Given the description of an element on the screen output the (x, y) to click on. 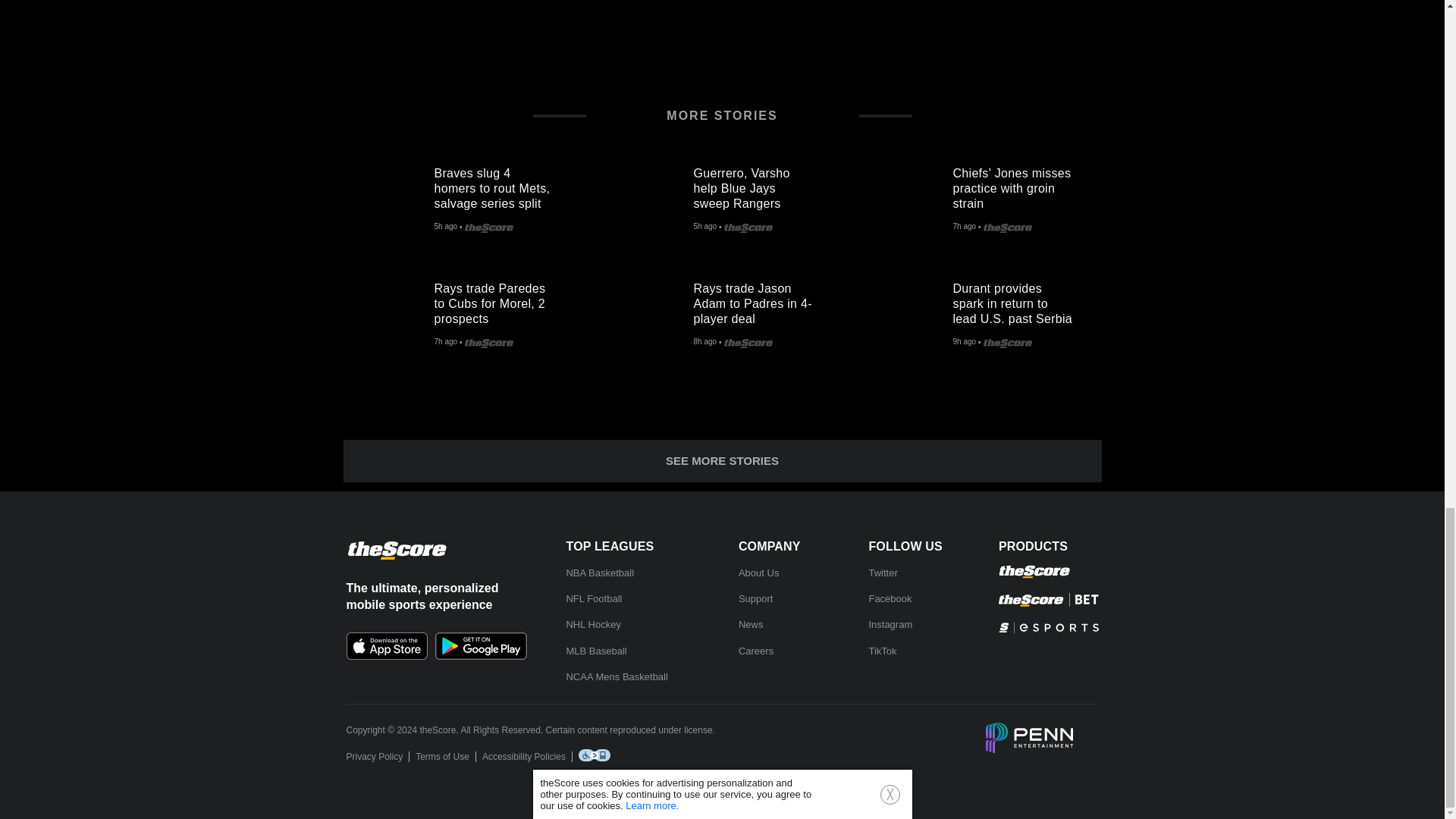
Chiefs' Jones misses practice with groin strain (906, 200)
Rays trade Paredes to Cubs for Morel, 2 prospects (500, 299)
NHL Hockey (593, 624)
Durant provides spark in return to lead U.S. past Serbia (1018, 299)
2024-07-28T20:56:03.000Z (704, 226)
Rays trade Jason Adam to Padres in 4-player deal (647, 315)
2024-07-28T19:17:01.000Z (963, 226)
2024-07-28T18:47:39.000Z (445, 342)
NBA Basketball (599, 572)
Durant provides spark in return to lead U.S. past Serbia (906, 315)
SEE MORE STORIES (721, 460)
Braves slug 4 homers to rout Mets, salvage series split (500, 184)
Guerrero, Varsho help Blue Jays sweep Rangers (759, 184)
Penn Entertainment (1029, 738)
Braves slug 4 homers to rout Mets, salvage series split (388, 200)
